Given the description of an element on the screen output the (x, y) to click on. 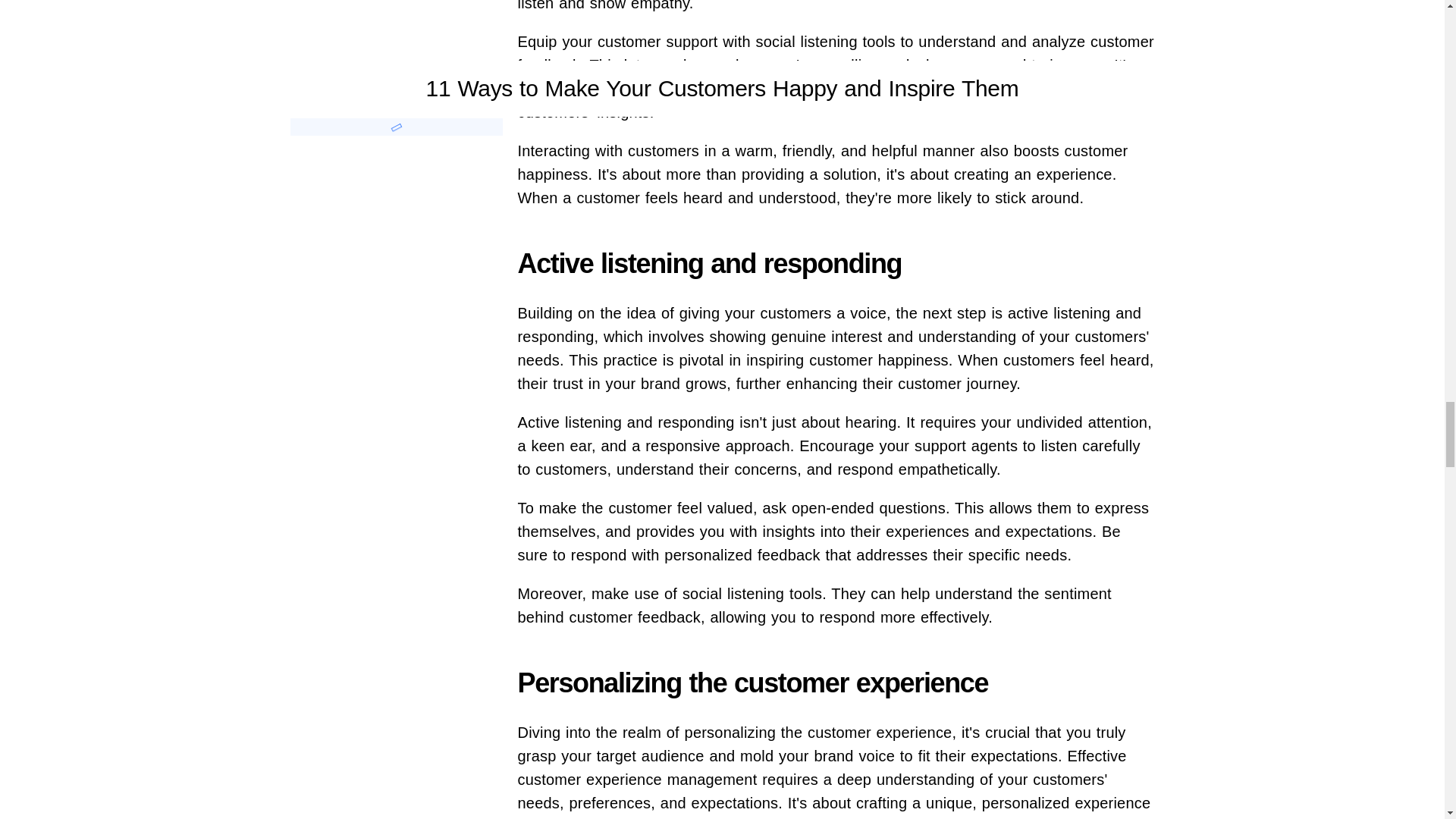
customer support (656, 41)
customer support (656, 41)
